Given the description of an element on the screen output the (x, y) to click on. 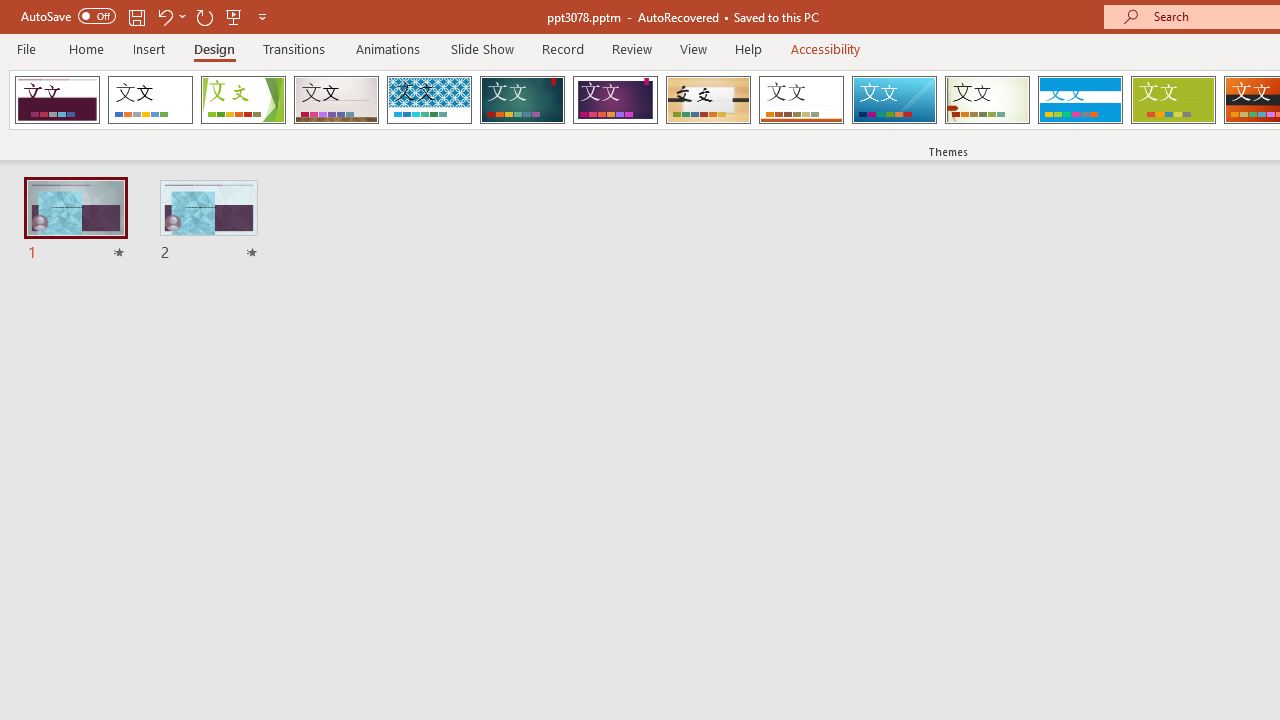
Ion Boardroom (615, 100)
Basis (1172, 100)
Organic (708, 100)
